Given the description of an element on the screen output the (x, y) to click on. 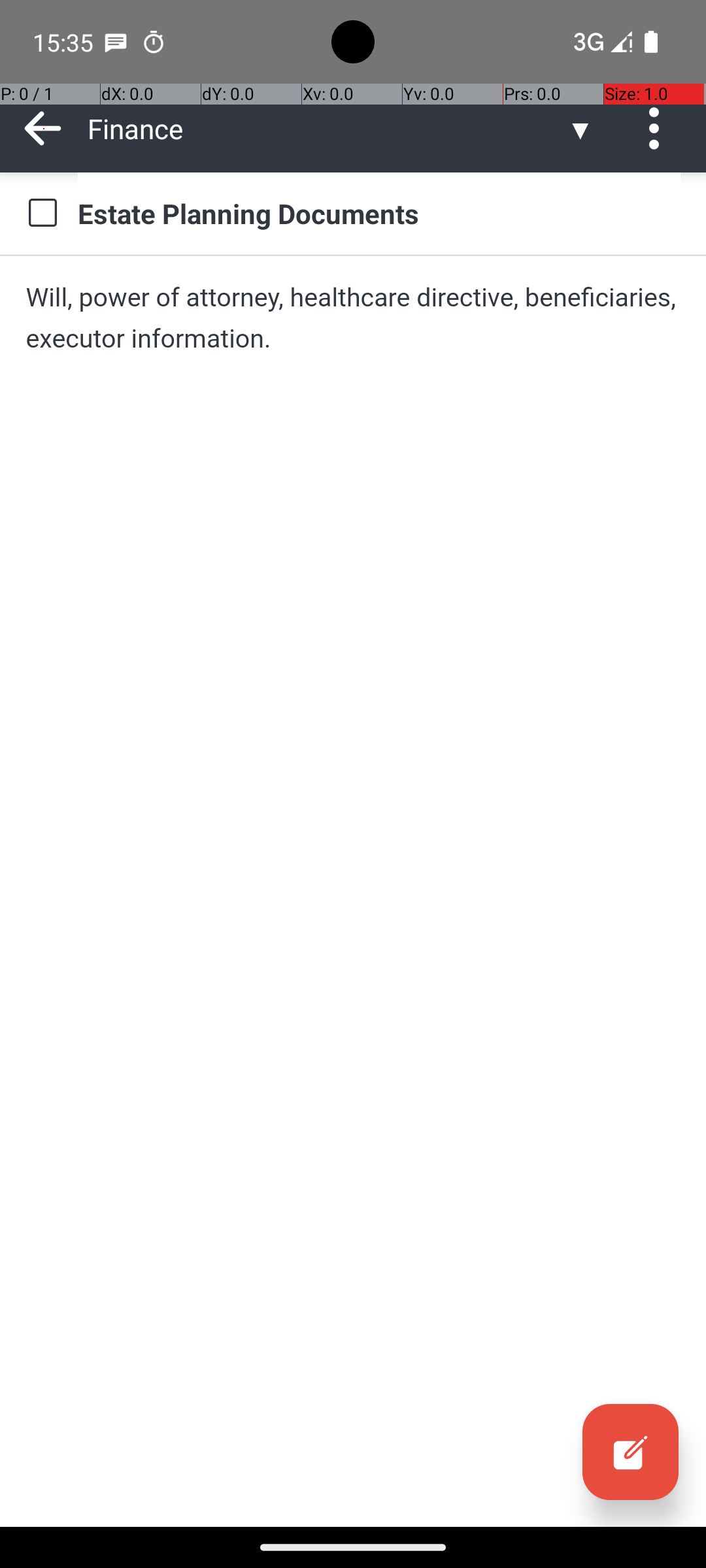
Estate Planning Documents Element type: android.widget.EditText (378, 213)
Will, power of attorney, healthcare directive, beneficiaries, executor information. Element type: android.widget.TextView (352, 317)
